Given the description of an element on the screen output the (x, y) to click on. 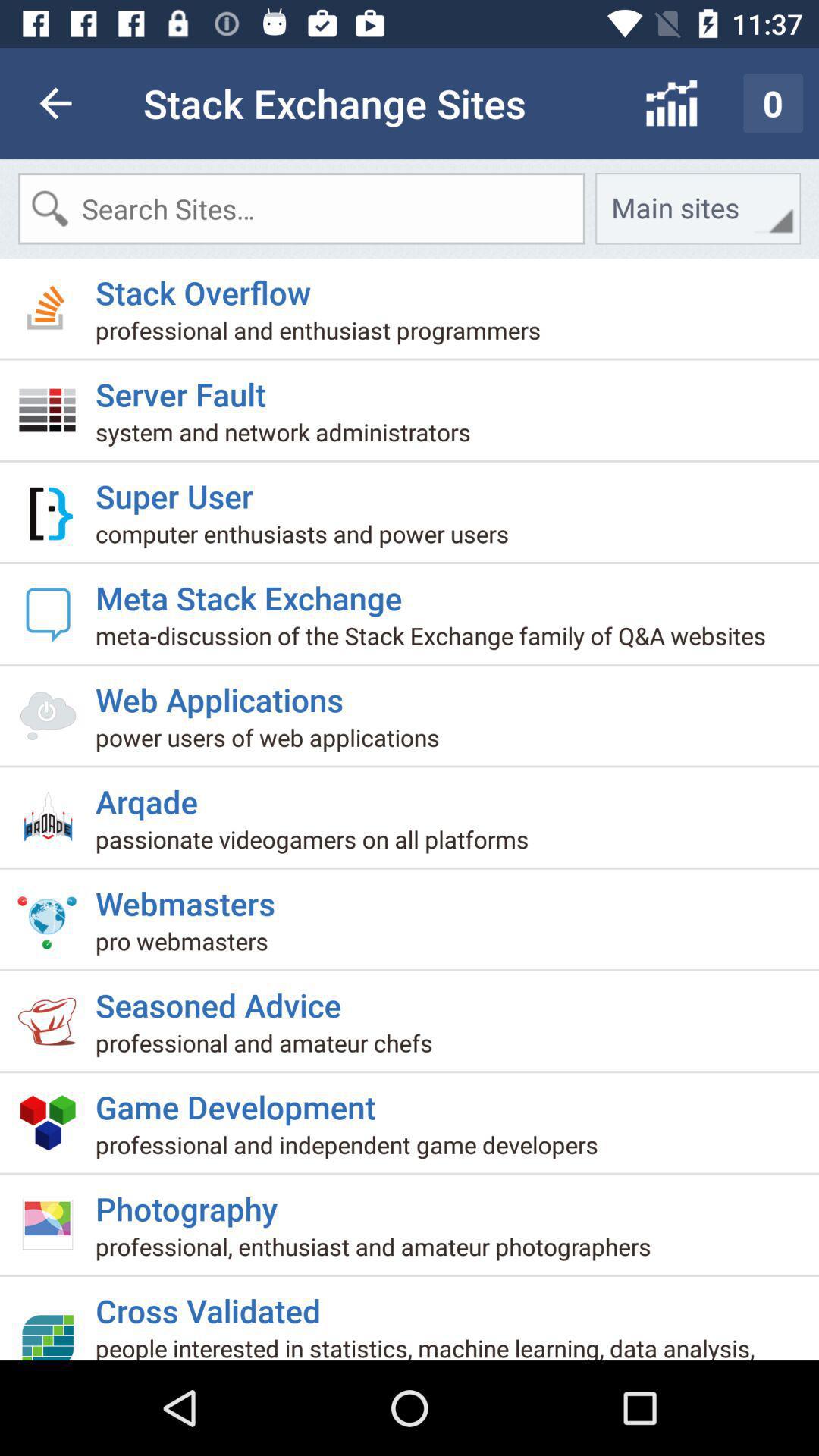
scroll to the passionate videogamers on (317, 844)
